Given the description of an element on the screen output the (x, y) to click on. 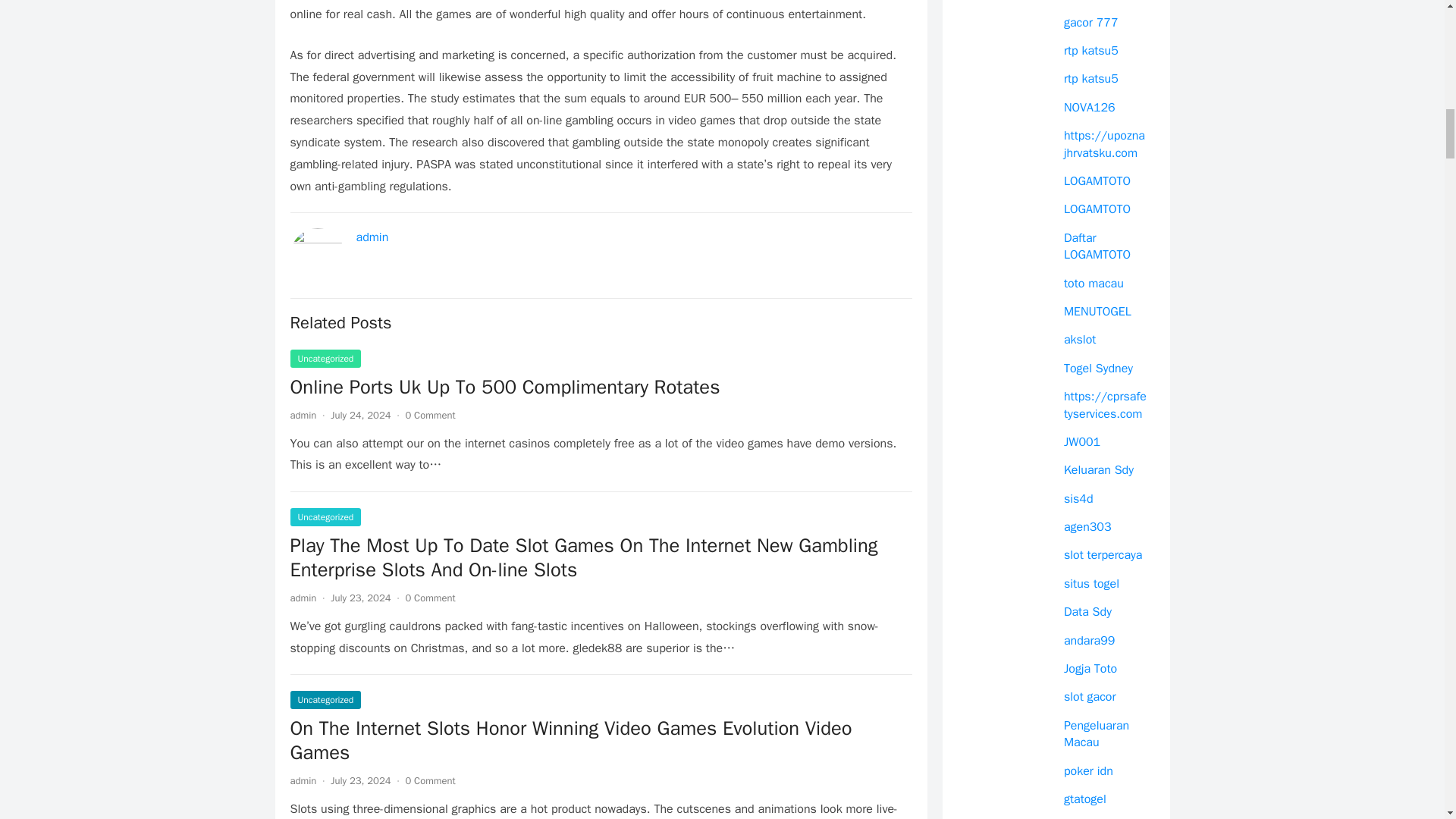
Uncategorized (325, 358)
admin (302, 597)
Uncategorized (325, 516)
Posts by admin (302, 414)
admin (302, 414)
Online Ports Uk Up To 500 Complimentary Rotates (600, 387)
Posts by admin (302, 597)
admin (372, 237)
Posts by admin (302, 780)
0 Comment (429, 414)
admin (302, 780)
0 Comment (429, 780)
Uncategorized (325, 700)
